Given the description of an element on the screen output the (x, y) to click on. 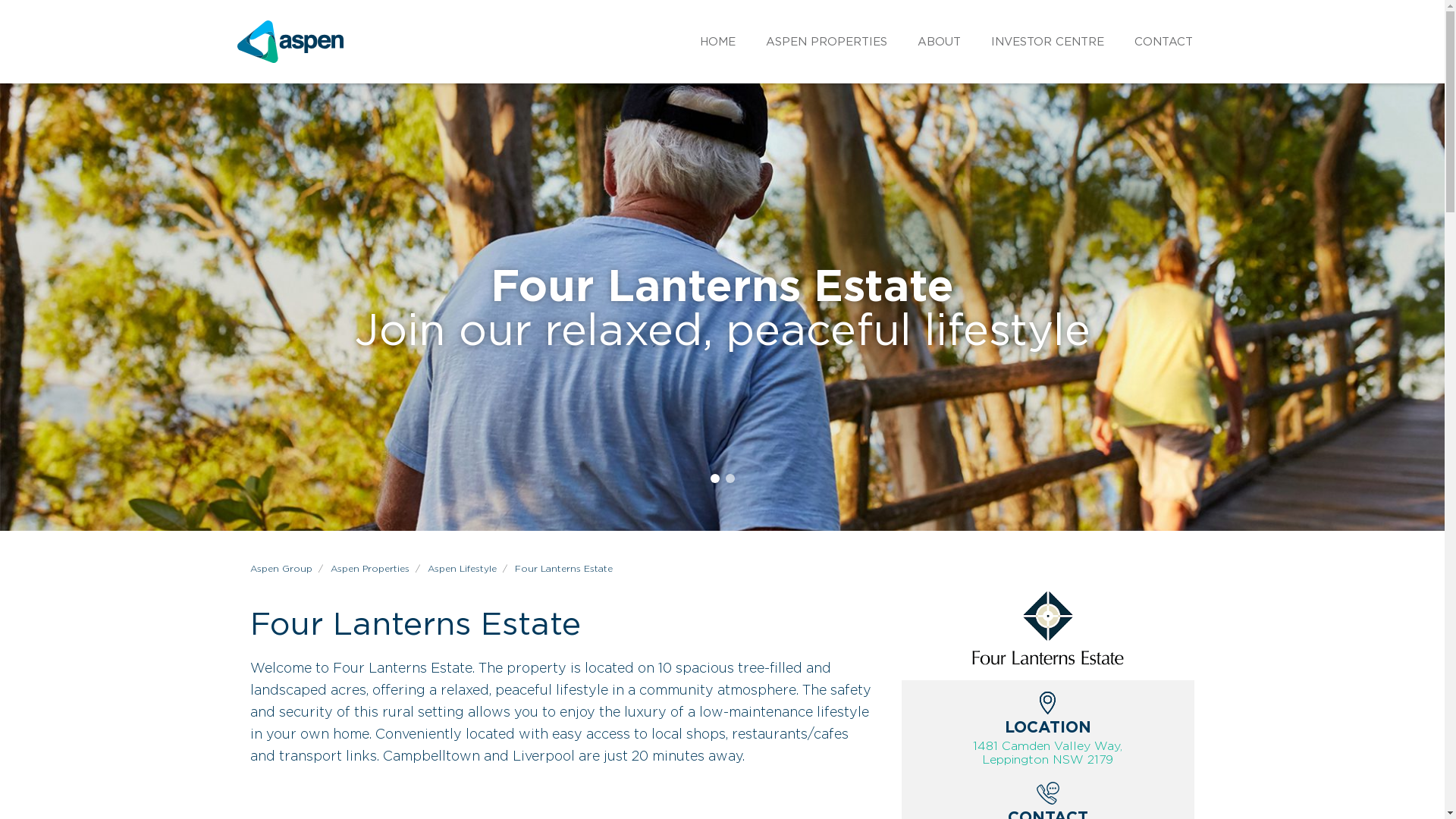
ABOUT Element type: text (938, 40)
INVESTOR CENTRE Element type: text (1046, 40)
1481 Camden Valley Way, Leppington NSW 2179 Element type: text (1047, 754)
CONTACT Element type: text (1163, 40)
HOME Element type: text (716, 40)
ASPEN PROPERTIES Element type: text (826, 40)
